Given the description of an element on the screen output the (x, y) to click on. 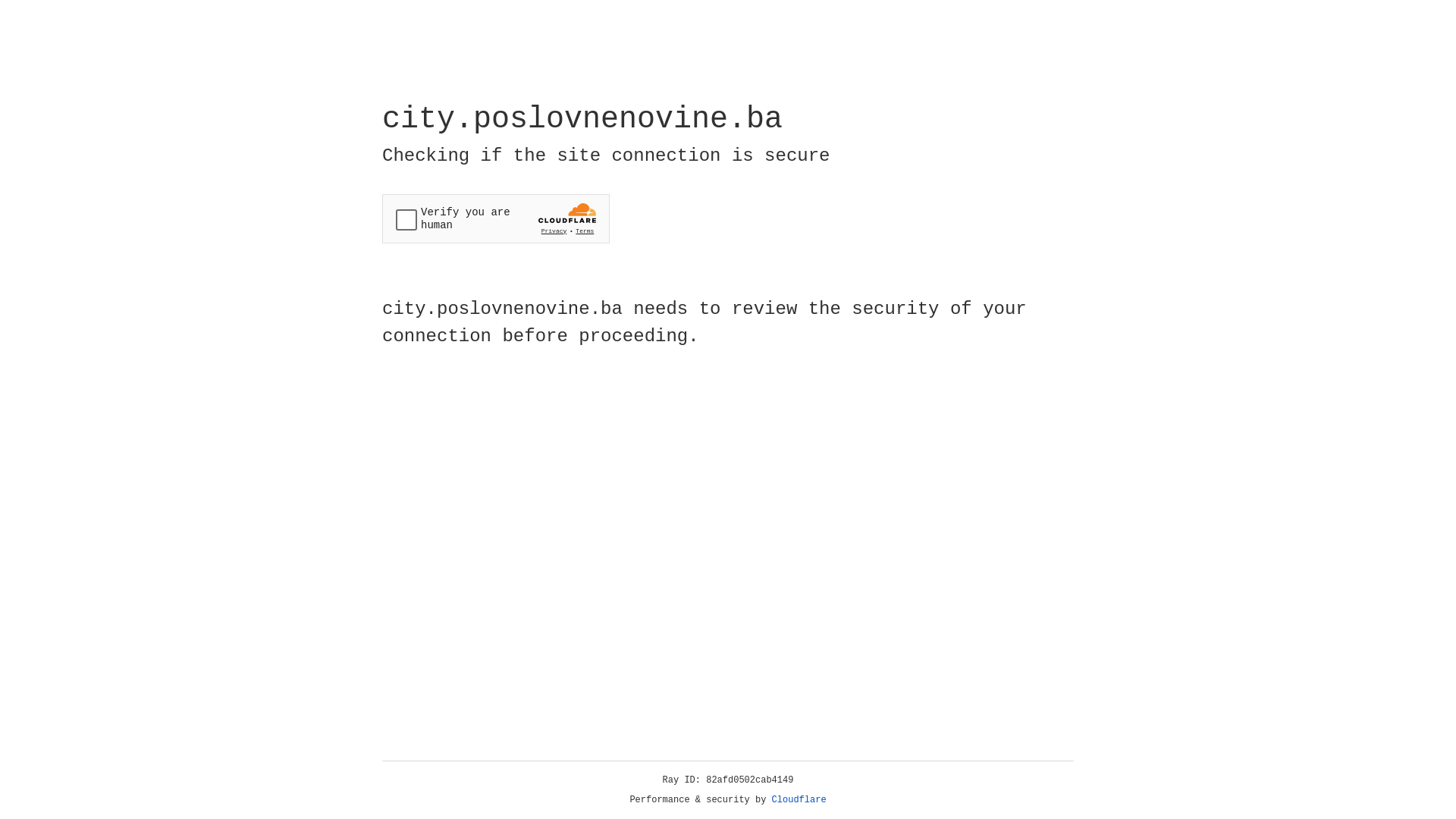
Cloudflare Element type: text (798, 799)
Widget containing a Cloudflare security challenge Element type: hover (495, 218)
